Given the description of an element on the screen output the (x, y) to click on. 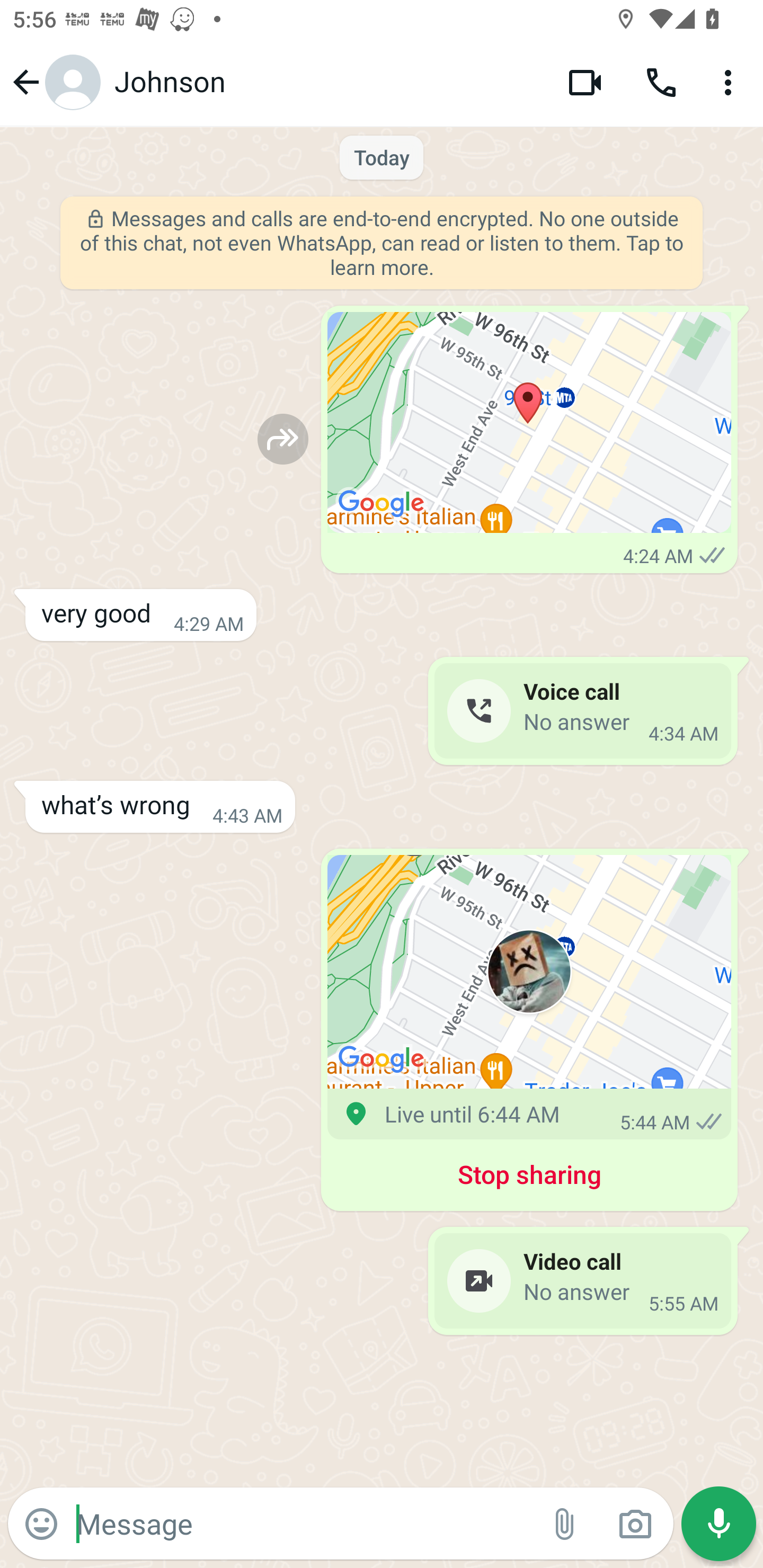
Johnson (327, 82)
Navigate up (54, 82)
Video call (585, 81)
Voice call (661, 81)
More options (731, 81)
Location (528, 422)
Forward to… (282, 438)
Live location (528, 971)
Stop sharing (529, 1178)
Emoji (41, 1523)
Attach (565, 1523)
Camera (634, 1523)
Message (303, 1523)
